Given the description of an element on the screen output the (x, y) to click on. 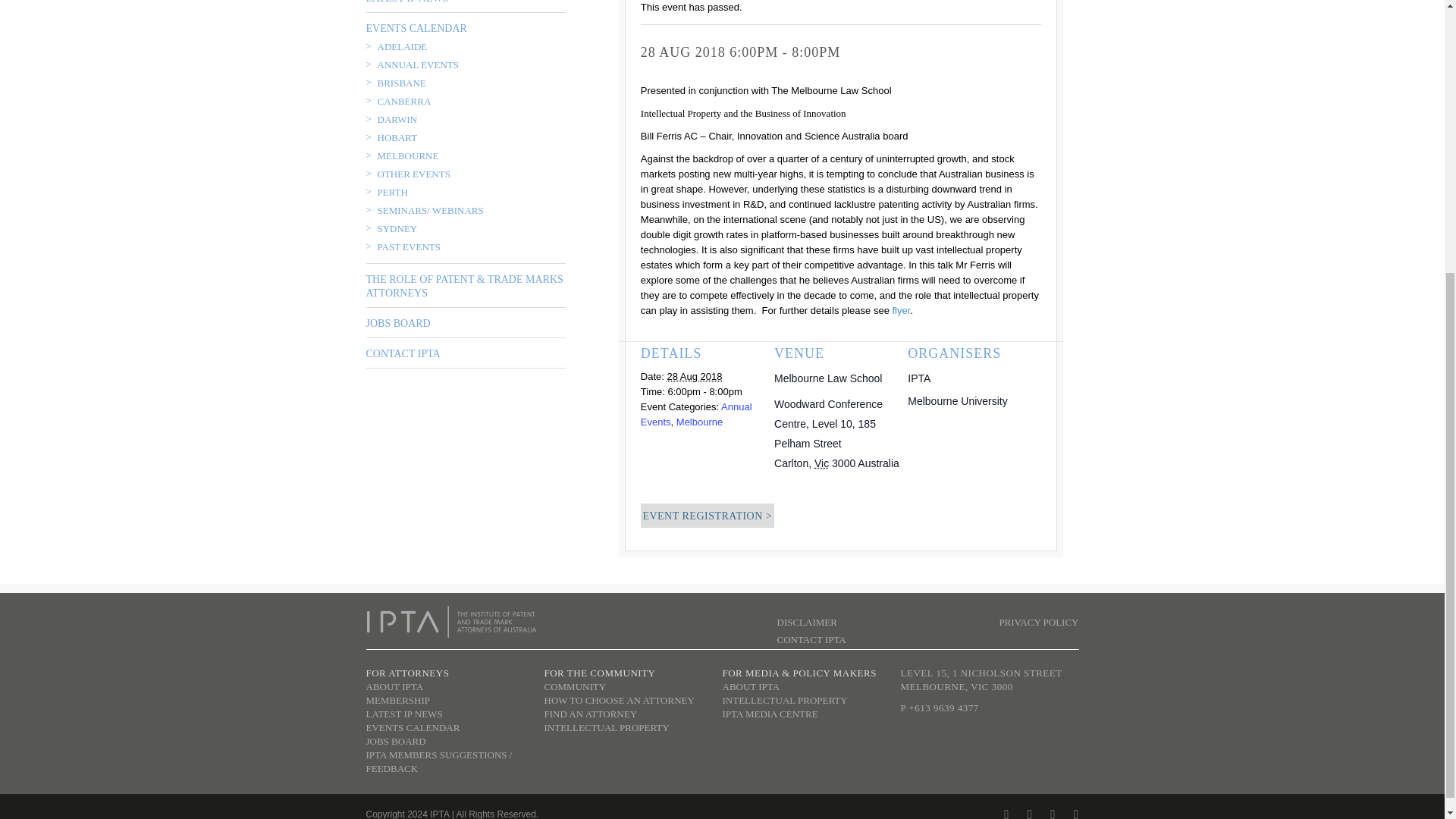
Vic (820, 463)
2018-08-28 (694, 376)
2018-08-28 (703, 391)
